Given the description of an element on the screen output the (x, y) to click on. 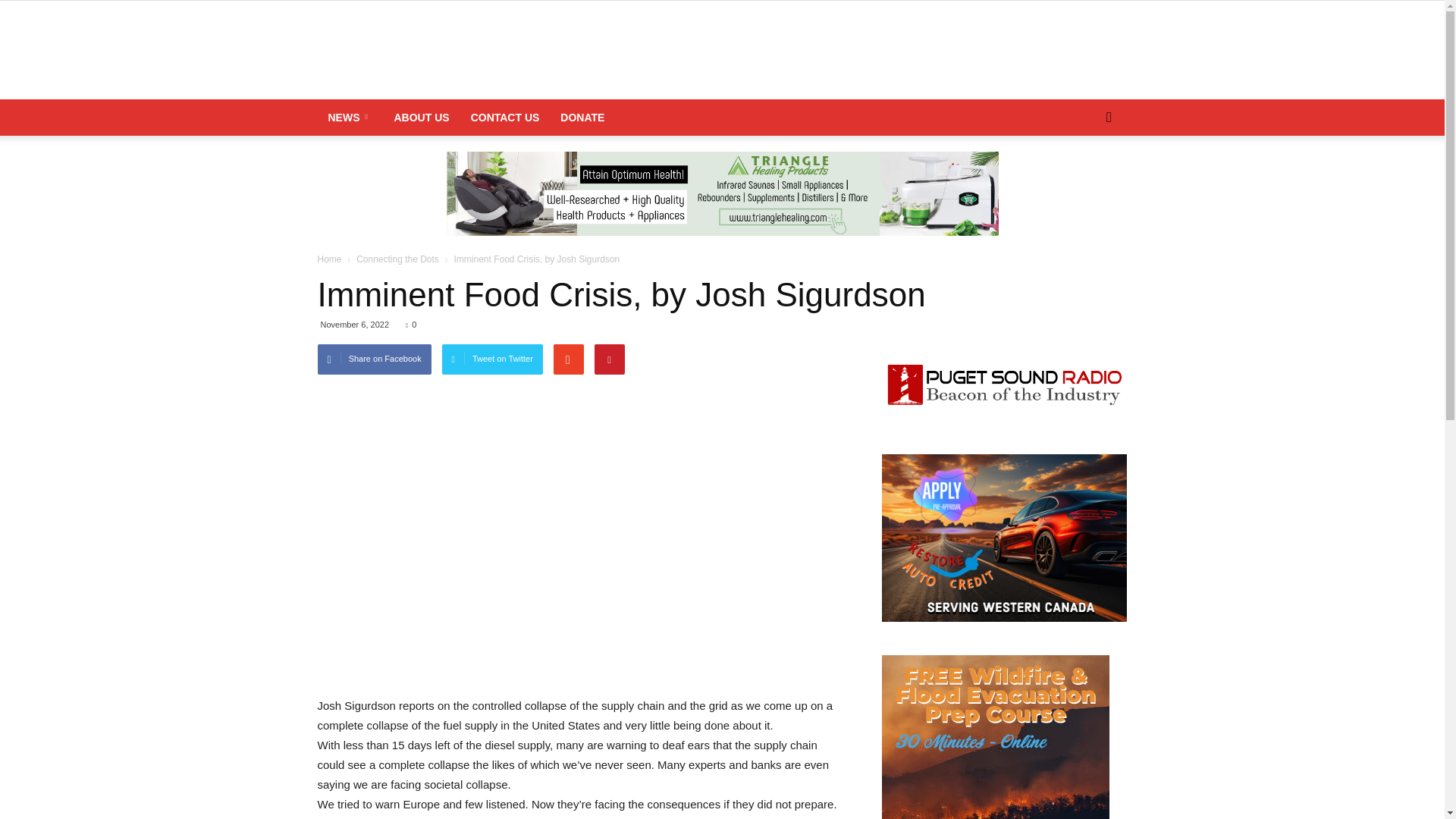
Connecting the Dots (398, 258)
Easton Spectator Connecting the Dots... (722, 50)
View all posts in Connecting the Dots (398, 258)
NEWS (349, 117)
DONATE (582, 117)
0 (411, 324)
CONTACT US (505, 117)
Home (330, 258)
ABOUT US (422, 117)
